Given the description of an element on the screen output the (x, y) to click on. 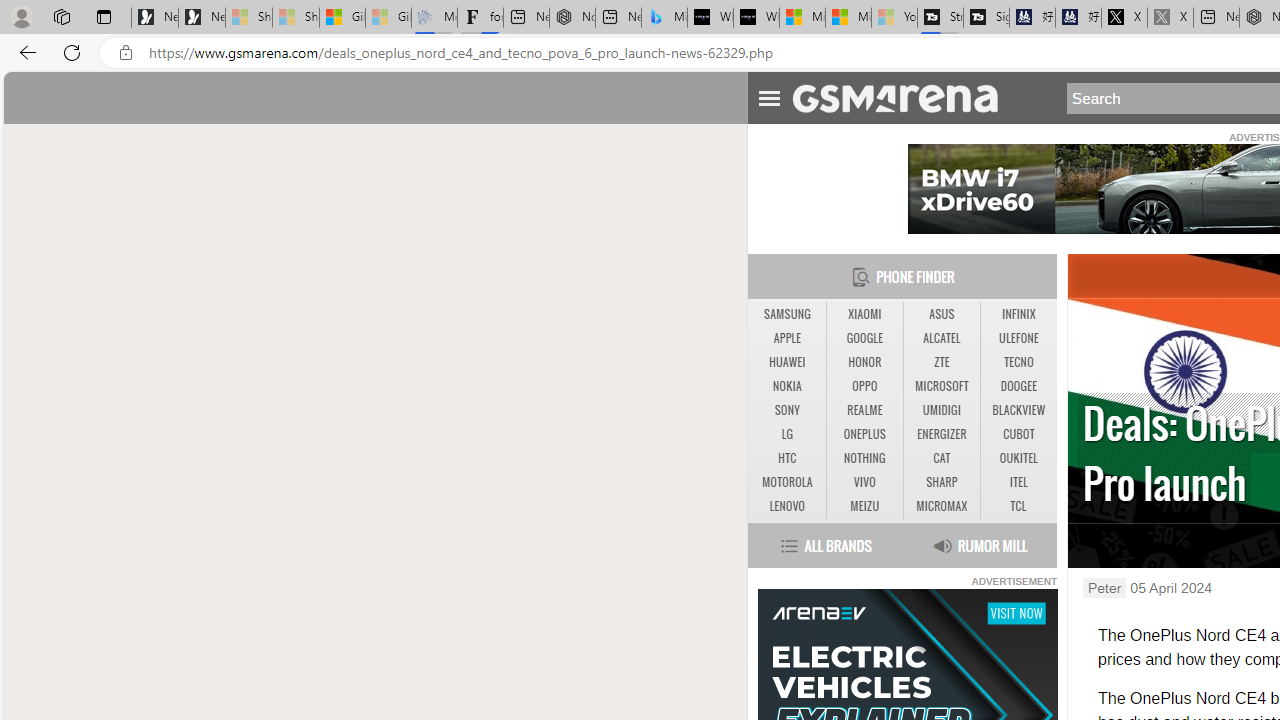
SONY (786, 411)
MICROSOFT (941, 385)
Microsoft Bing Travel - Shangri-La Hotel Bangkok (664, 17)
GOOGLE (863, 338)
Toggle Navigation (768, 95)
TECNO (1018, 362)
LENOVO (786, 506)
ASUS (941, 314)
